Given the description of an element on the screen output the (x, y) to click on. 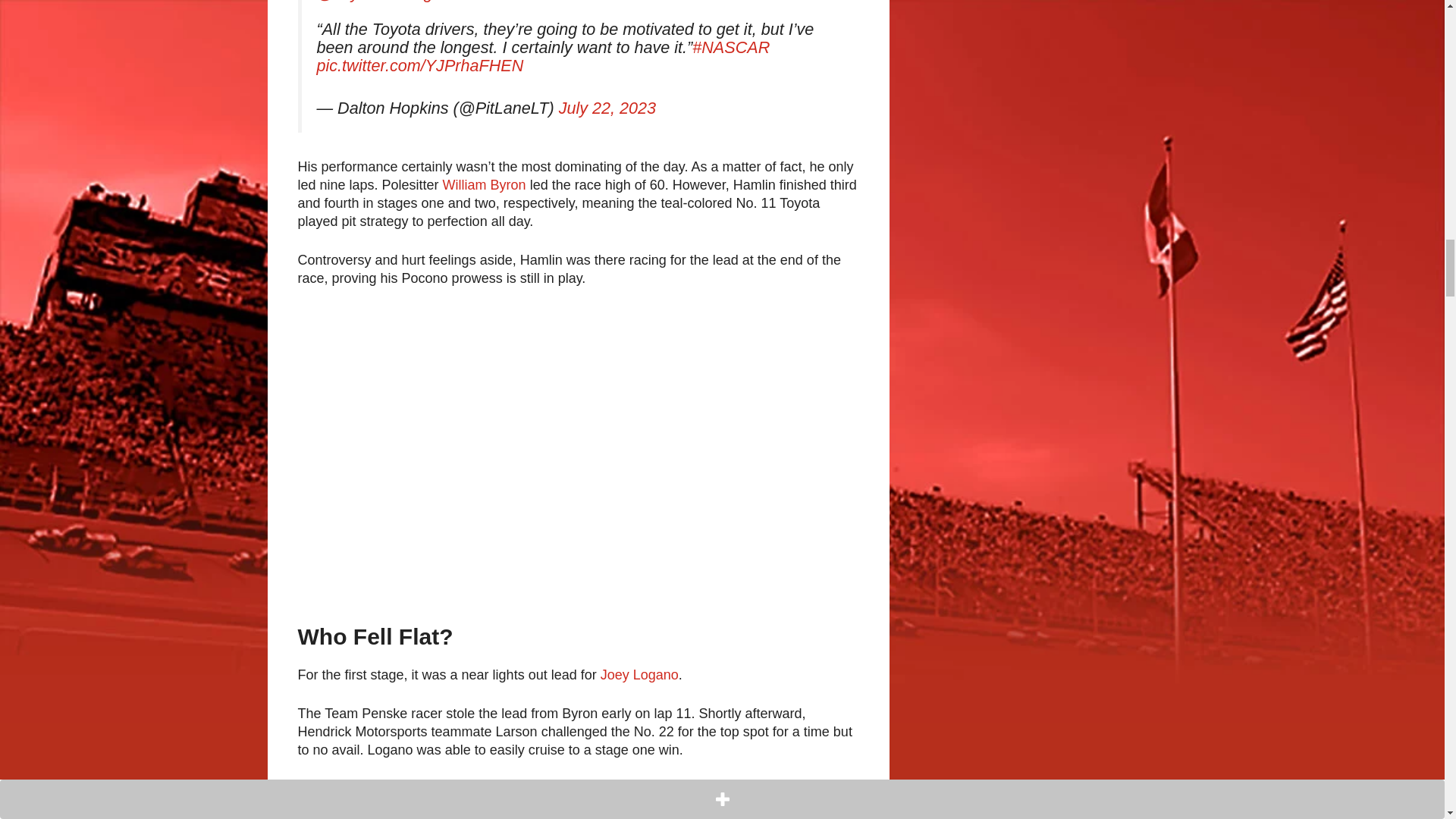
William Byron (483, 184)
July 22, 2023 (607, 107)
Joey Logano (638, 674)
